Given the description of an element on the screen output the (x, y) to click on. 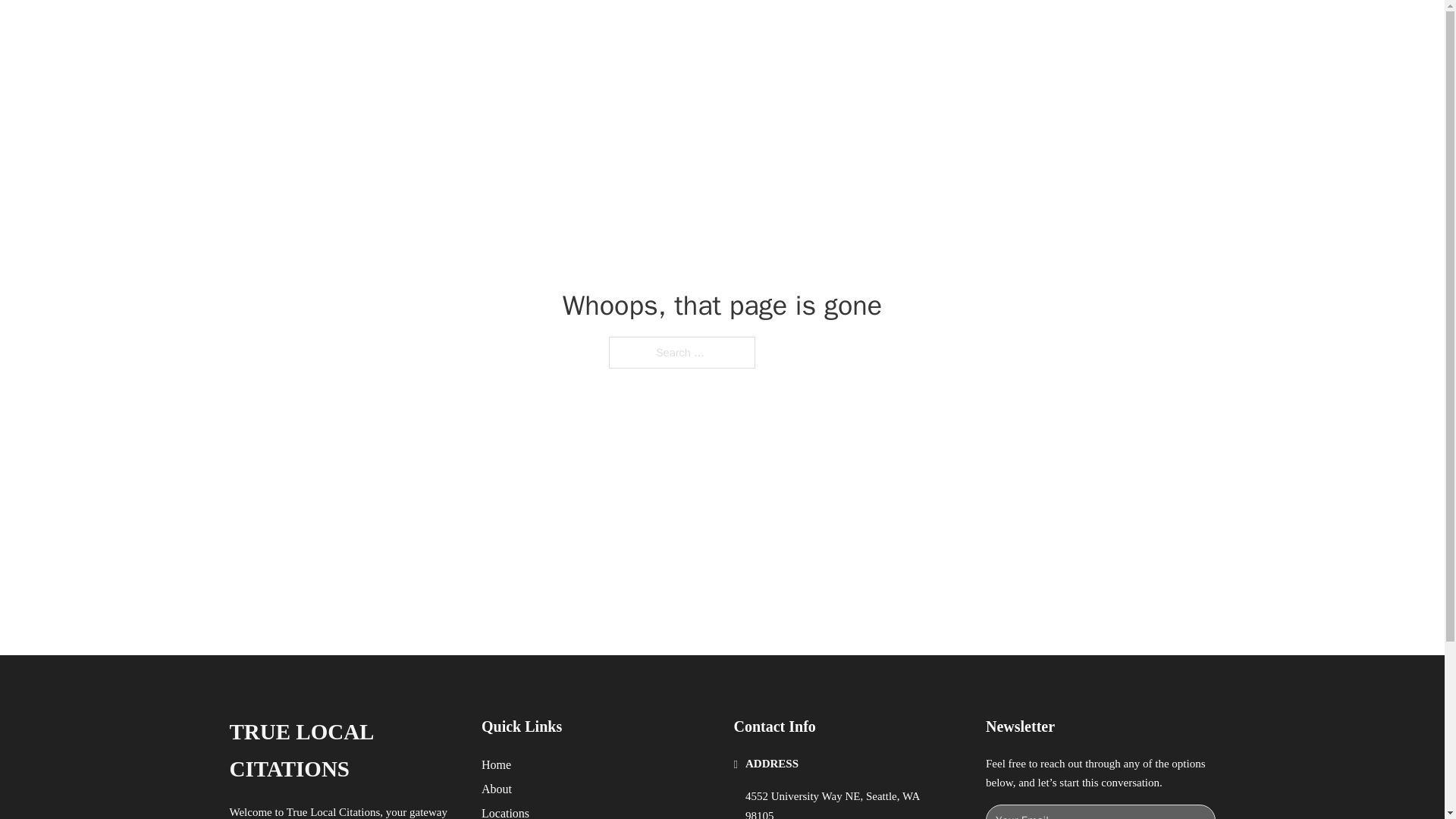
Home (496, 764)
TRUE LOCAL CITATIONS (343, 750)
About (496, 788)
Locations (505, 811)
TRUE LOCAL CITATIONS (426, 28)
